Given the description of an element on the screen output the (x, y) to click on. 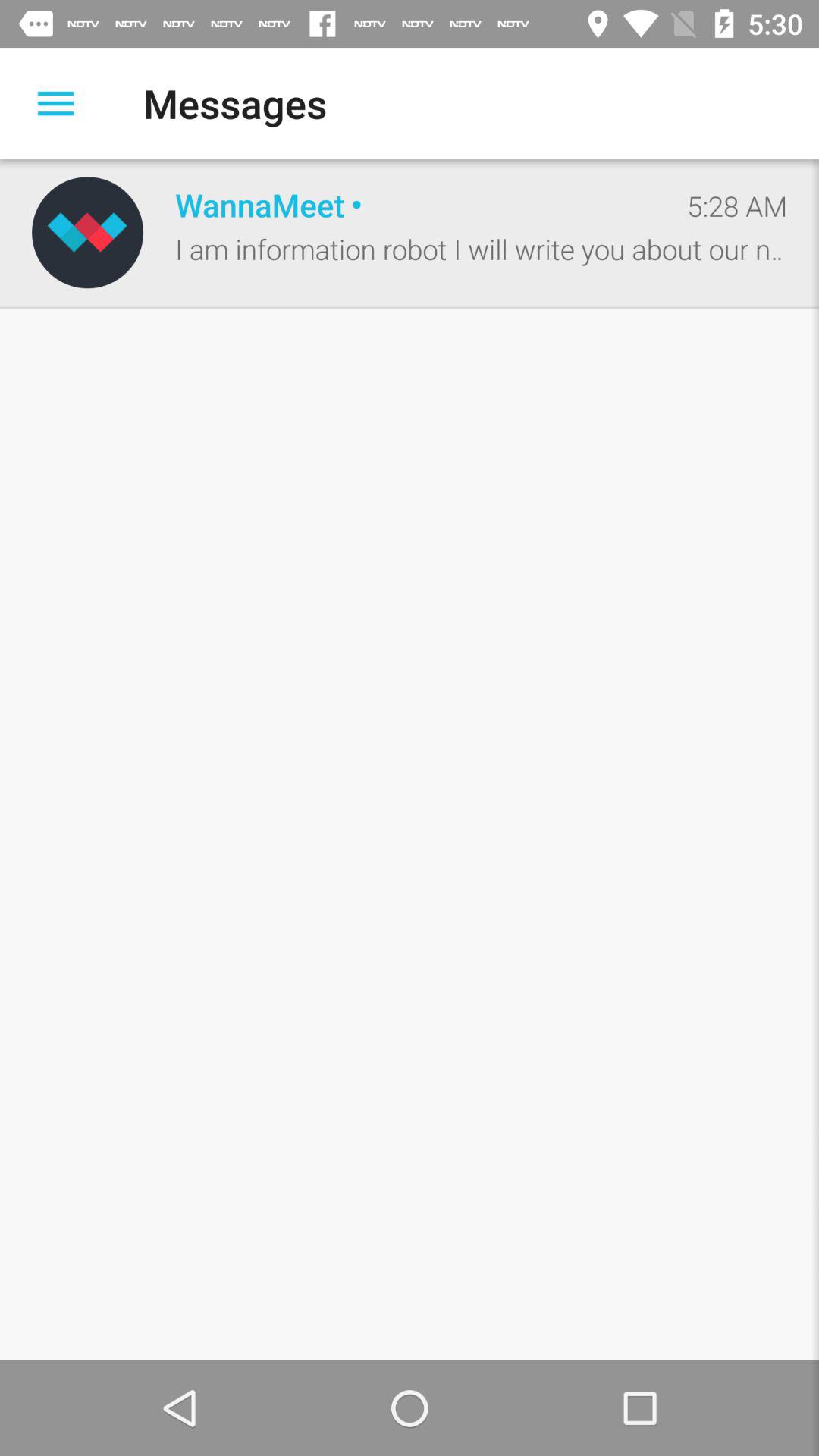
open the options menu (55, 103)
